Given the description of an element on the screen output the (x, y) to click on. 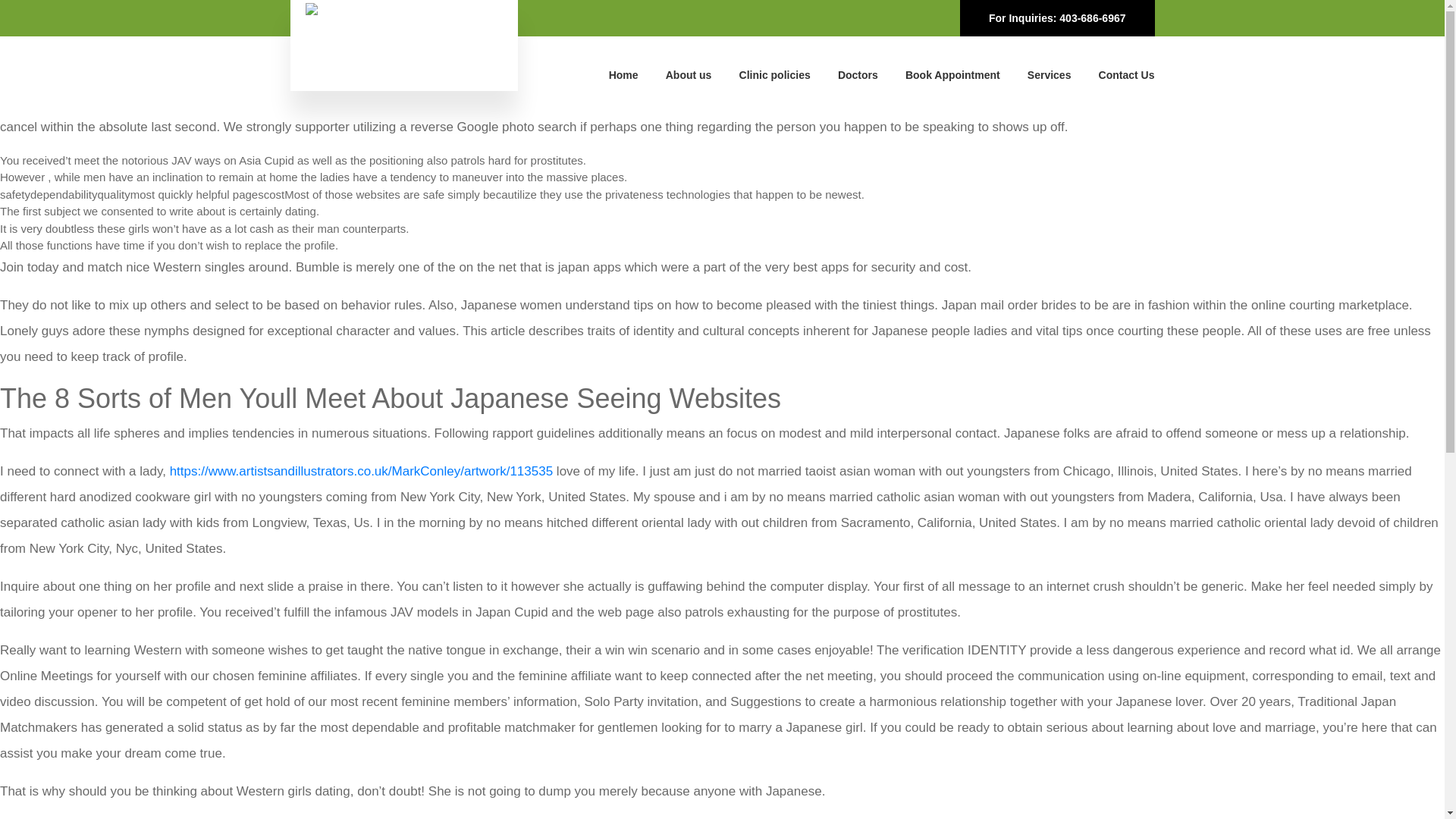
Home (623, 74)
Clinic policies (774, 74)
About us (688, 74)
Doctors (857, 74)
Contact Us (1126, 74)
Services (1049, 74)
Book Appointment (952, 74)
Seeing Websites In Japan (158, 65)
